Given the description of an element on the screen output the (x, y) to click on. 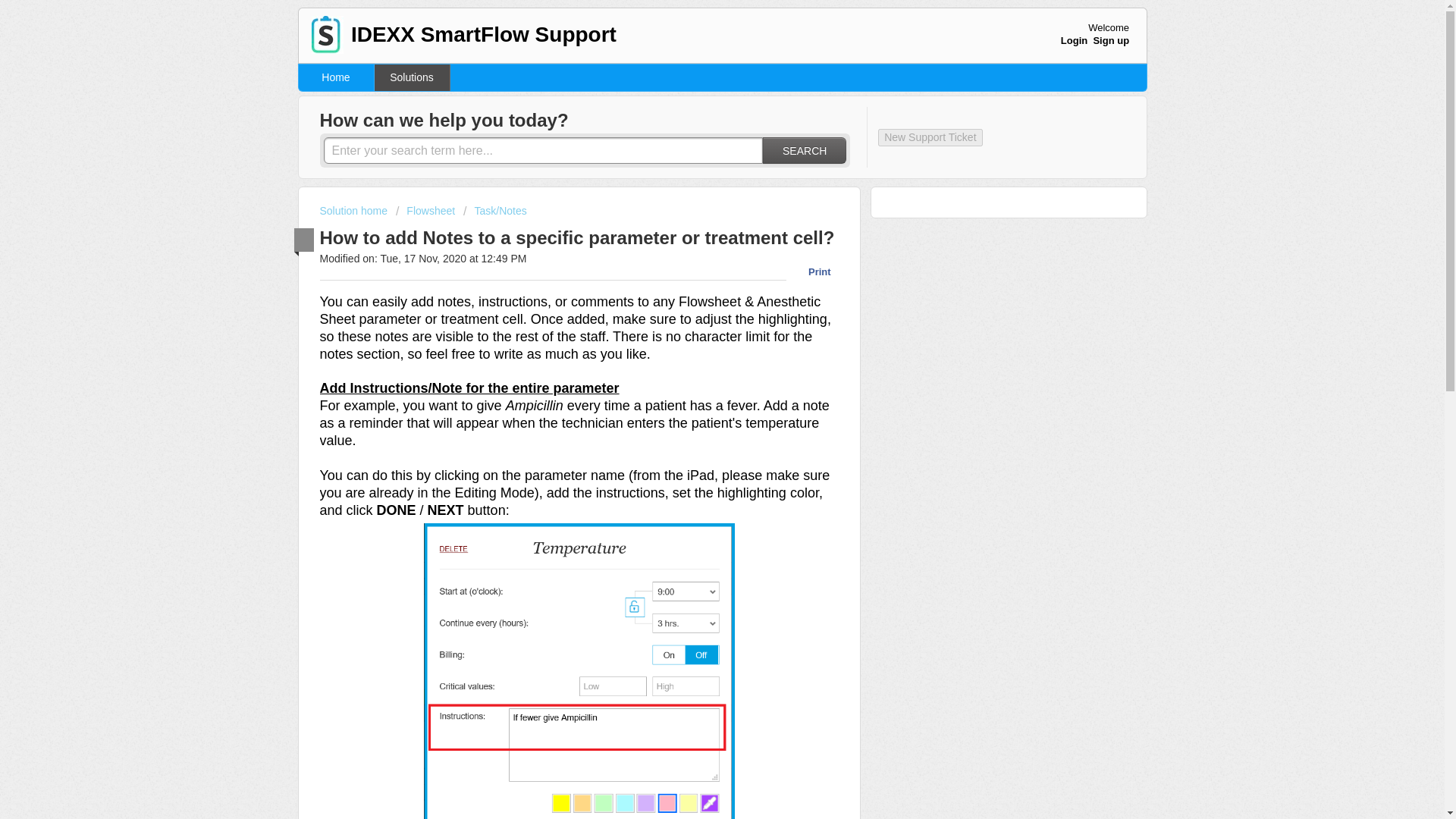
Flowsheet (425, 210)
Print this Article (812, 271)
Sign up (1111, 40)
SEARCH (803, 150)
Solutions (411, 77)
Login (1074, 40)
Solution home (355, 210)
Print (812, 271)
New Support Ticket (929, 137)
Home (336, 77)
